Given the description of an element on the screen output the (x, y) to click on. 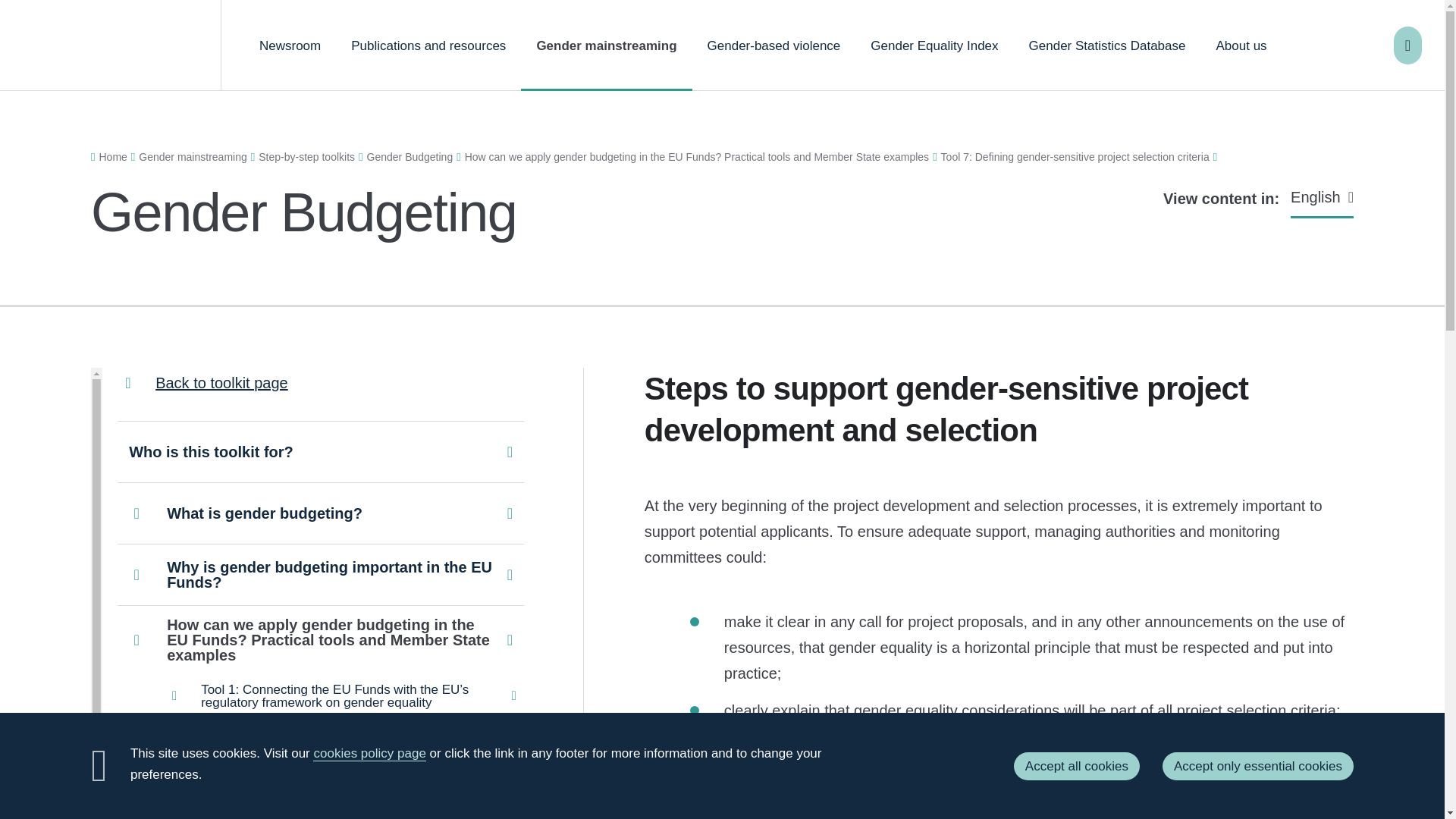
Accept only essential cookies (1257, 766)
European Institute for Gender Equality (110, 45)
Newsroom (290, 45)
Gender mainstreaming (606, 45)
Accept all cookies (1076, 766)
cookies policy page (369, 753)
Publications and resources (428, 45)
